Given the description of an element on the screen output the (x, y) to click on. 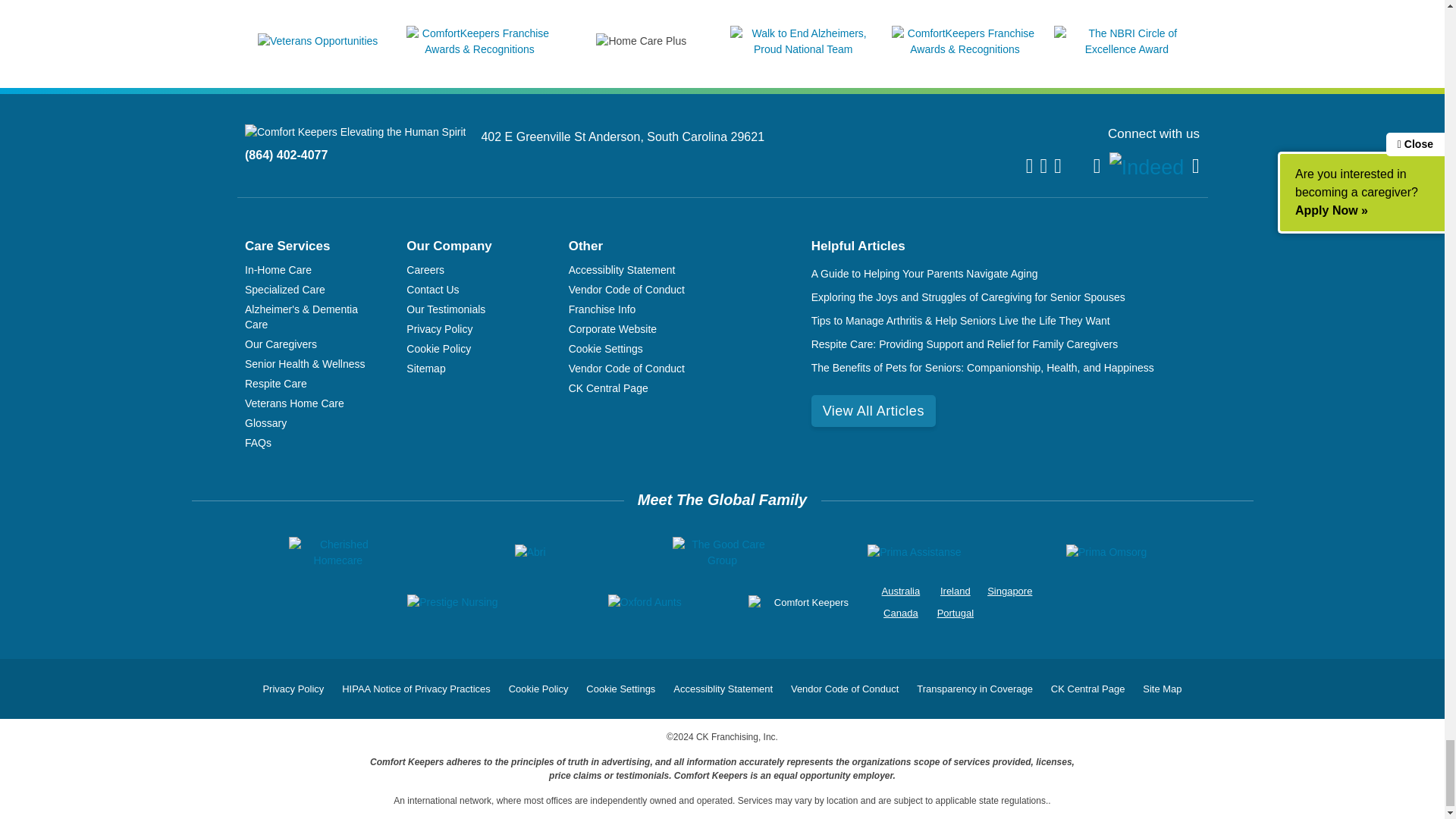
Indeed (1147, 167)
Walk to End Alzheimers, Proud National Team (803, 49)
Prestige Nursing (452, 602)
The Good Care Group (721, 552)
Prima Assistanse (913, 552)
Learn more about the NBRI Circle of Excellence Award (1126, 49)
Indeed (1147, 167)
Abri (530, 552)
Veterans Opportunities (317, 40)
Cherished Homecare (337, 552)
